Given the description of an element on the screen output the (x, y) to click on. 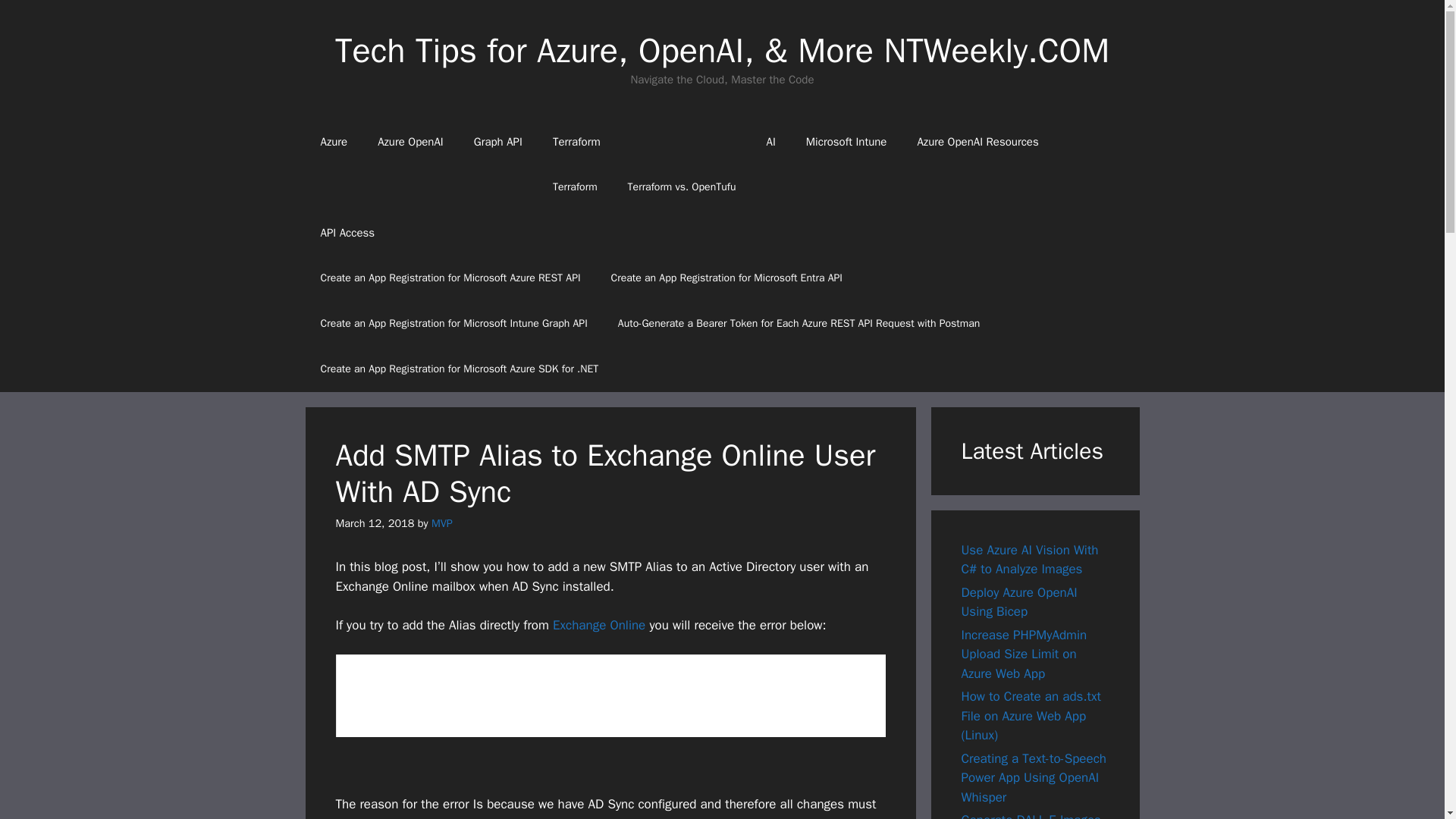
API Access (721, 231)
Azure OpenAI (410, 140)
Terraform (644, 140)
Terraform (574, 186)
View all posts by MVP (441, 522)
Increase PHPMyAdmin Upload Size Limit on Azure Web App (1023, 653)
Exchange Online (599, 625)
Deploy Azure OpenAI Using Bicep (1018, 601)
MVP (441, 522)
Create an App Registration for Microsoft Azure REST API (449, 277)
